Given the description of an element on the screen output the (x, y) to click on. 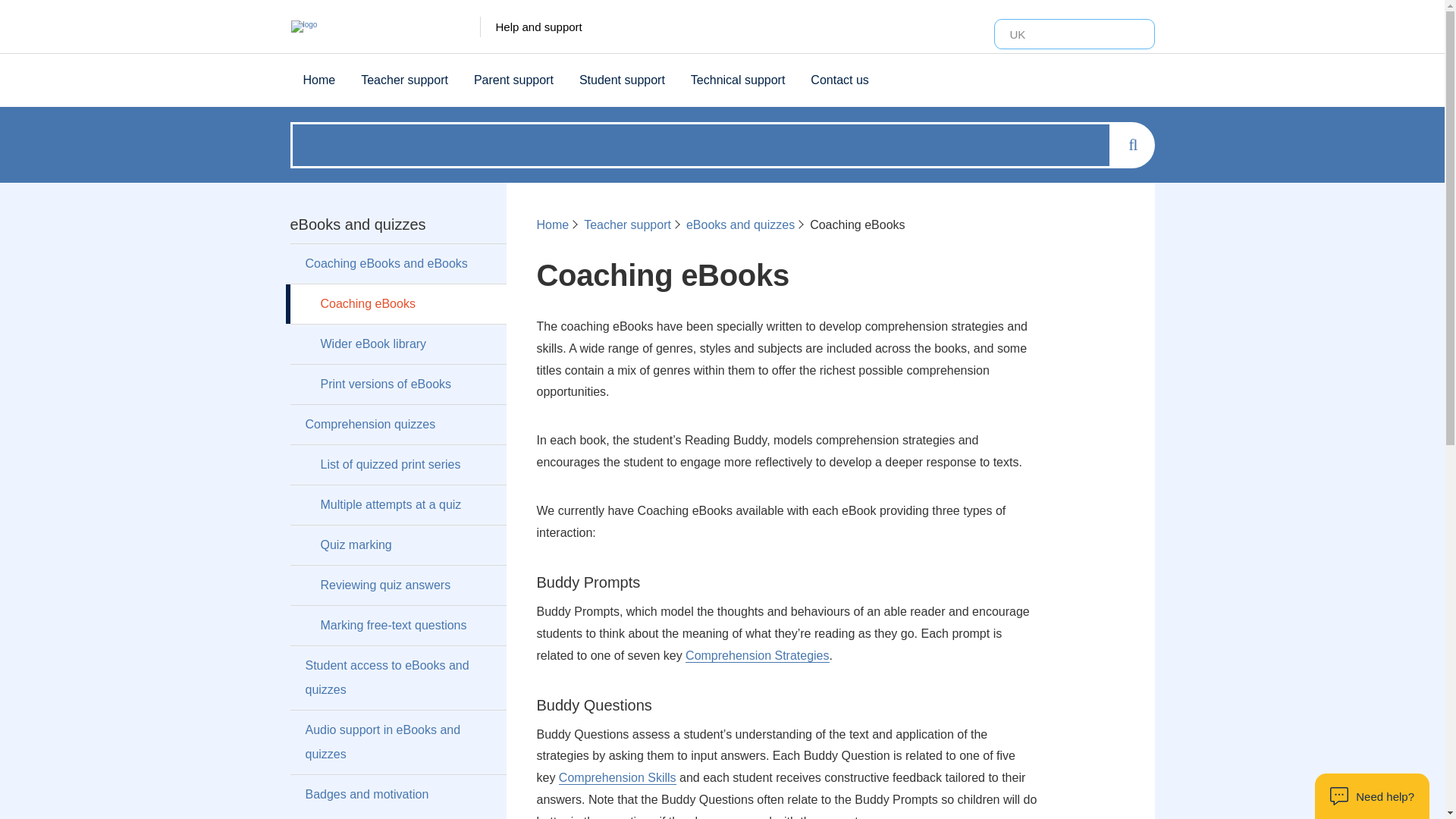
Home (318, 80)
Multiple attempts at a quiz (397, 504)
Reviewing quiz answers (397, 585)
Print versions of eBooks (397, 384)
Contact us (838, 80)
Teacher support (627, 224)
Home (553, 224)
Audio support in eBooks and quizzes (397, 741)
eBooks and quizzes (739, 224)
Coaching eBooks (397, 303)
